Given the description of an element on the screen output the (x, y) to click on. 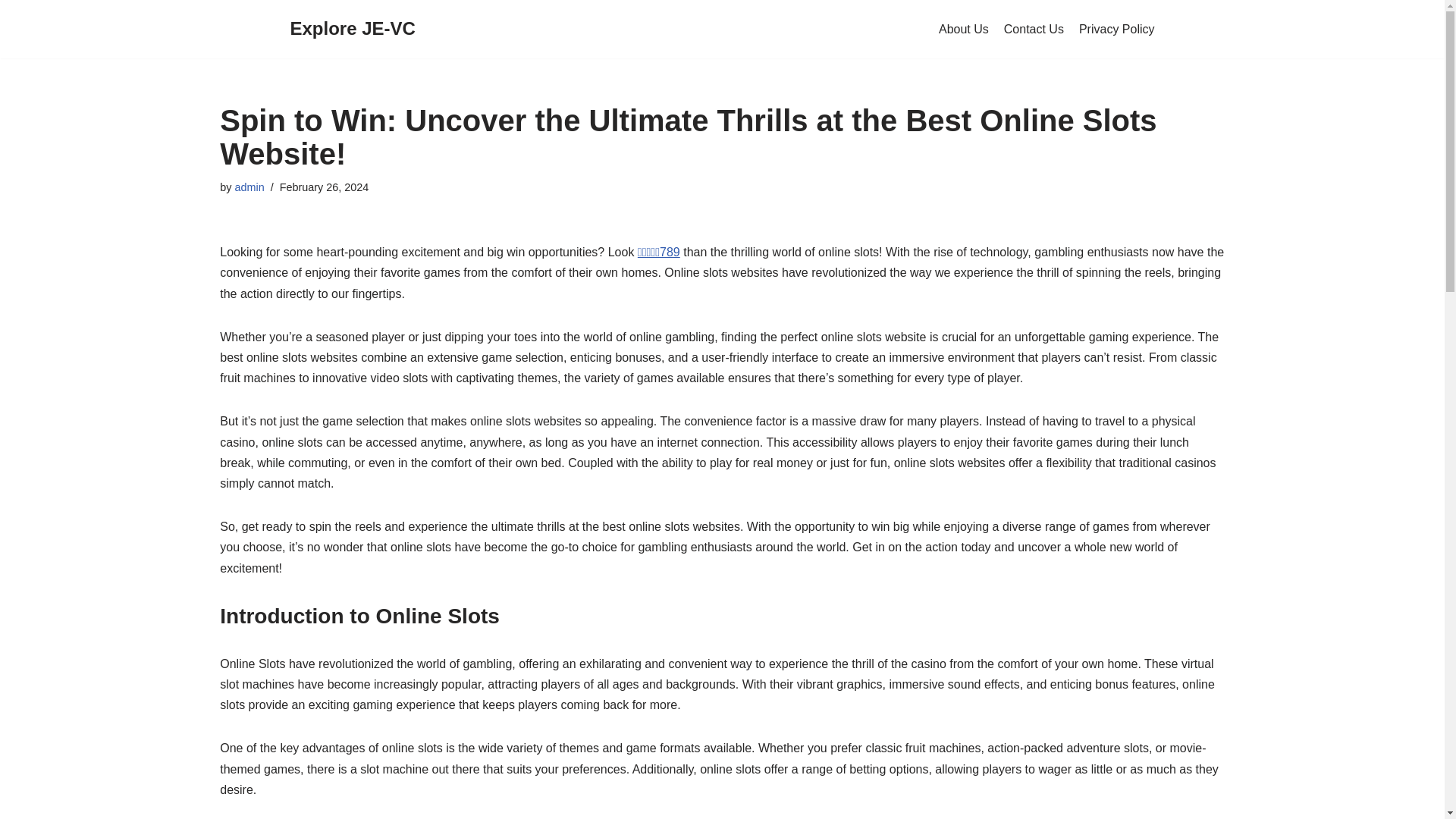
Posts by admin (248, 186)
Contact Us (1034, 29)
admin (248, 186)
Privacy Policy (1116, 29)
Explore JE-VC (351, 29)
About Us (963, 29)
Skip to content (11, 31)
